Given the description of an element on the screen output the (x, y) to click on. 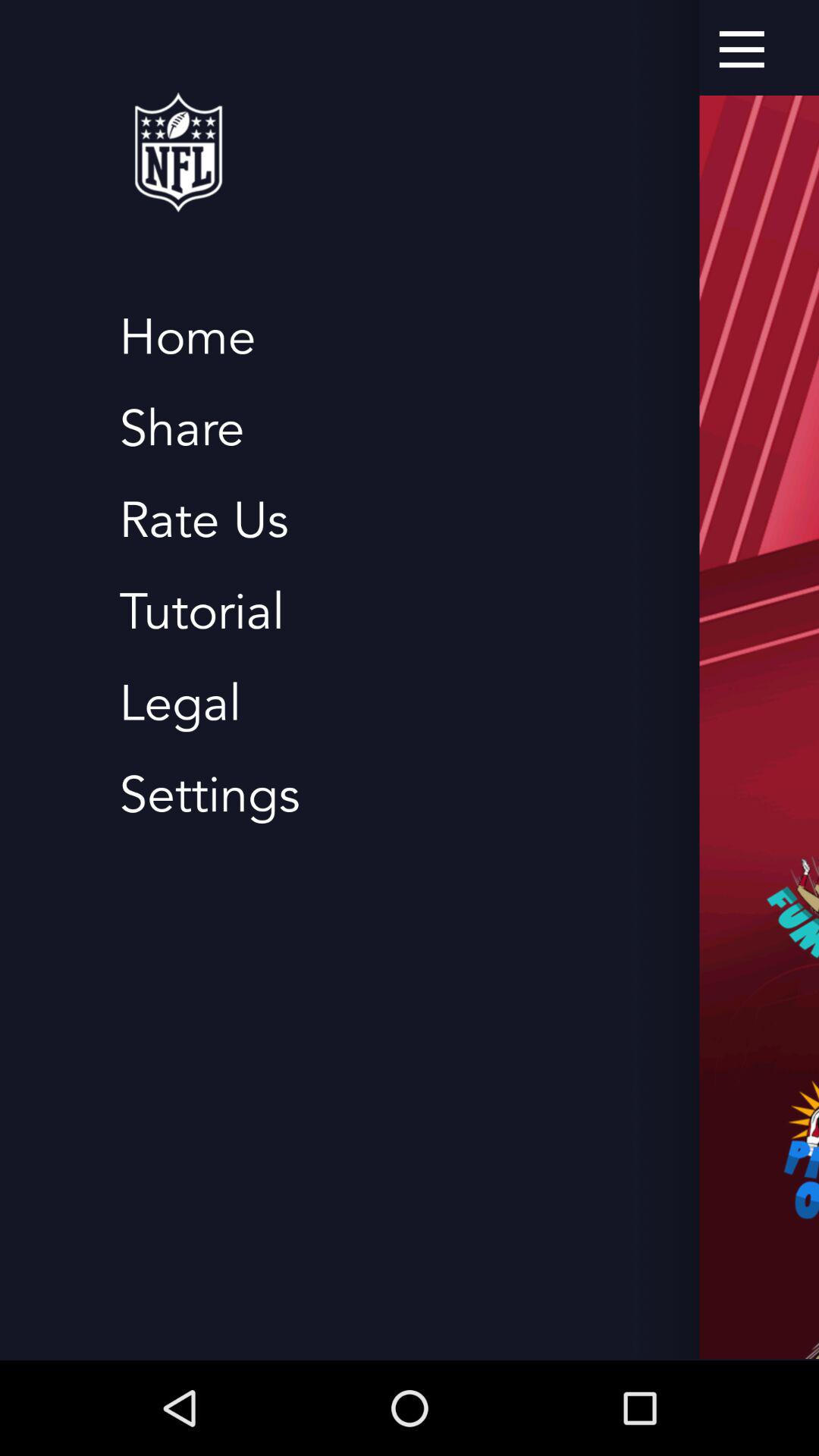
tap the app above the share icon (187, 337)
